Given the description of an element on the screen output the (x, y) to click on. 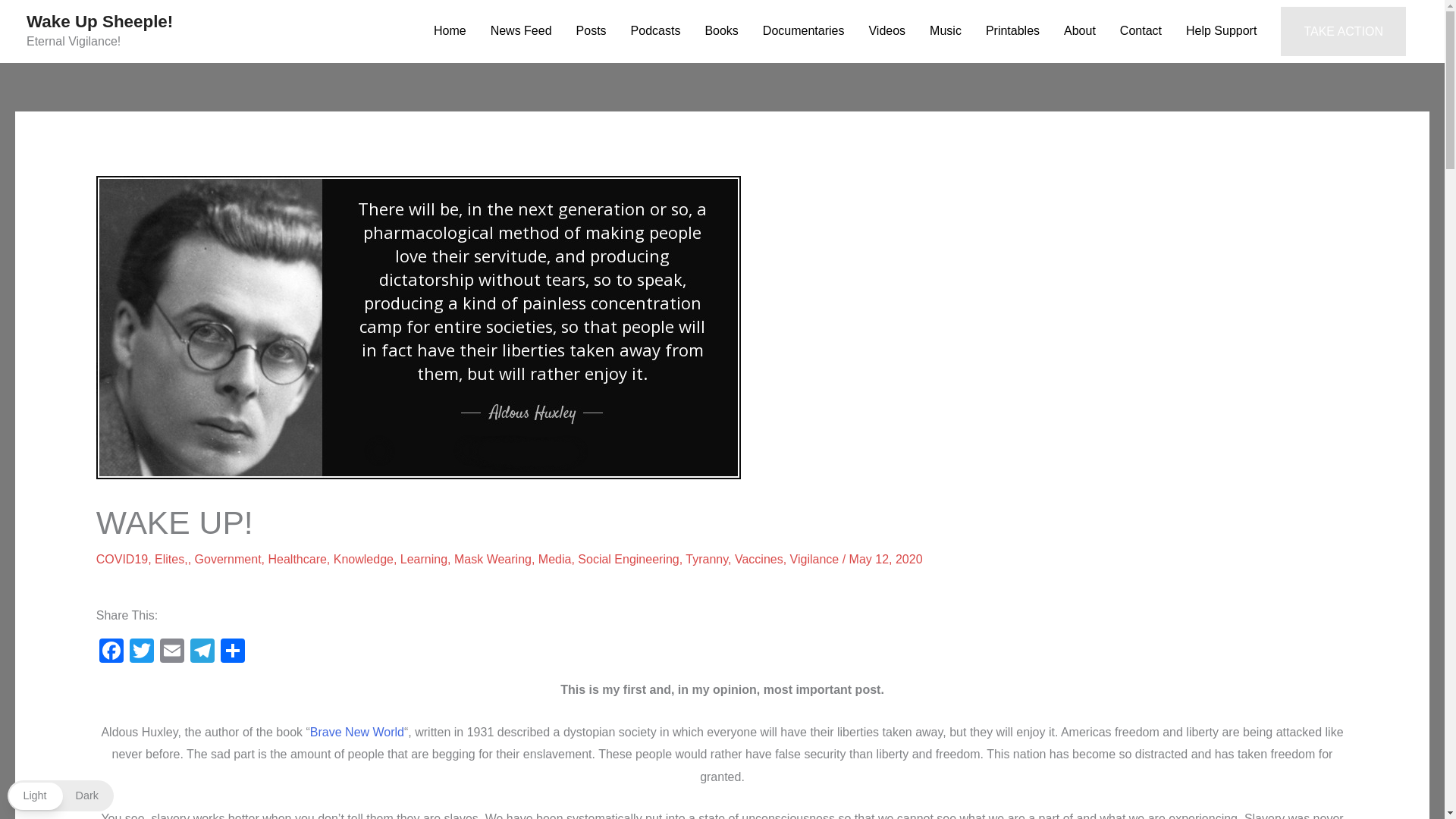
TAKE ACTION (1343, 31)
Videos (886, 31)
Brave New World (357, 731)
Mask Wearing (492, 558)
Twitter (141, 652)
Share (231, 652)
Podcasts (655, 31)
Email (172, 652)
Help Support (1220, 31)
Music (945, 31)
Vaccines (759, 558)
Documentaries (804, 31)
News Feed (521, 31)
Media (555, 558)
Contact (1140, 31)
